Given the description of an element on the screen output the (x, y) to click on. 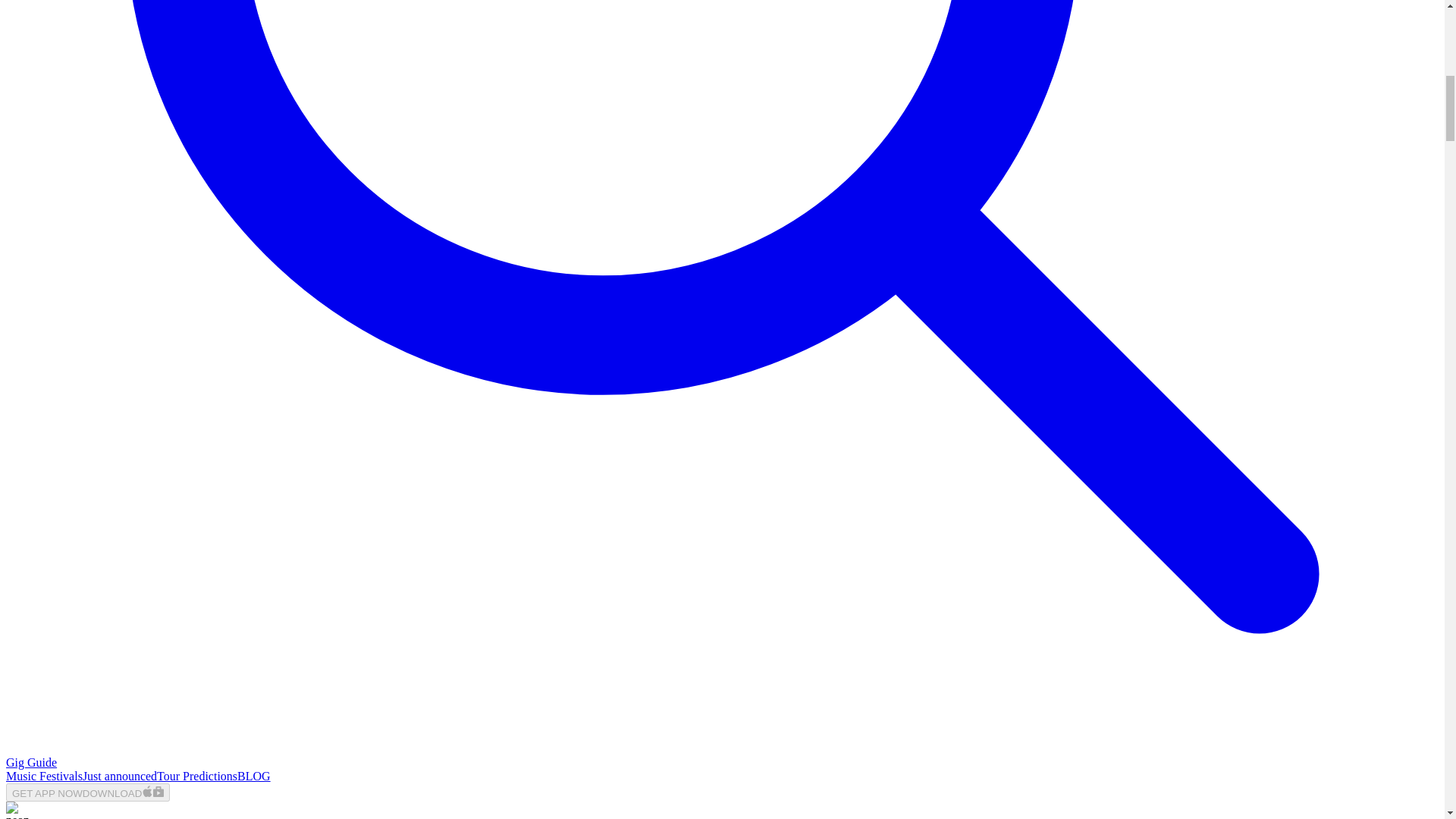
Gig Guide (30, 762)
Music Festivals (43, 775)
BLOG (253, 775)
Tour Predictions (197, 775)
GET APP NOWDOWNLOAD (87, 791)
Just announced (119, 775)
